Given the description of an element on the screen output the (x, y) to click on. 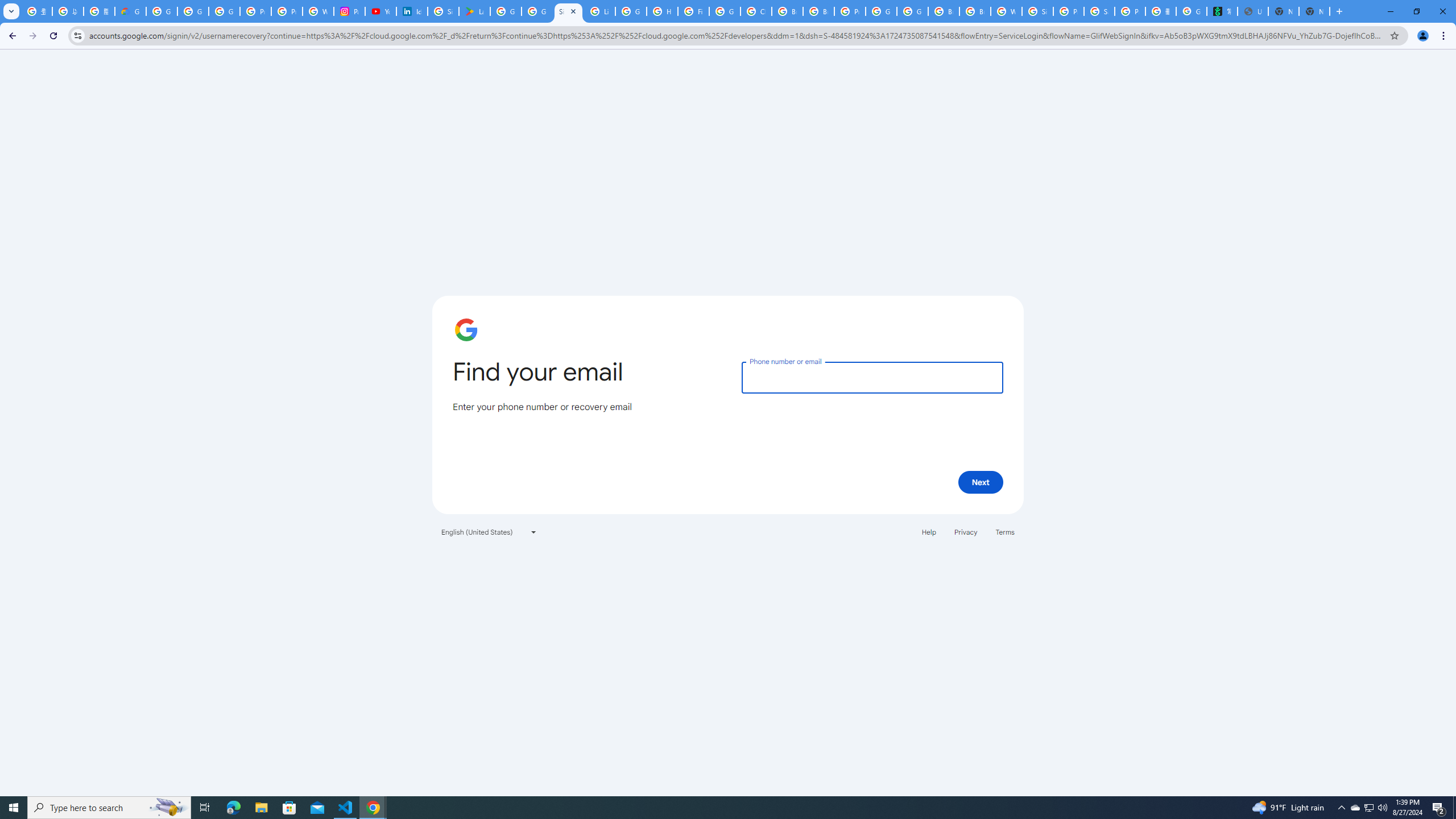
Google Cloud Platform (912, 11)
Sign in - Google Accounts (443, 11)
